Given the description of an element on the screen output the (x, y) to click on. 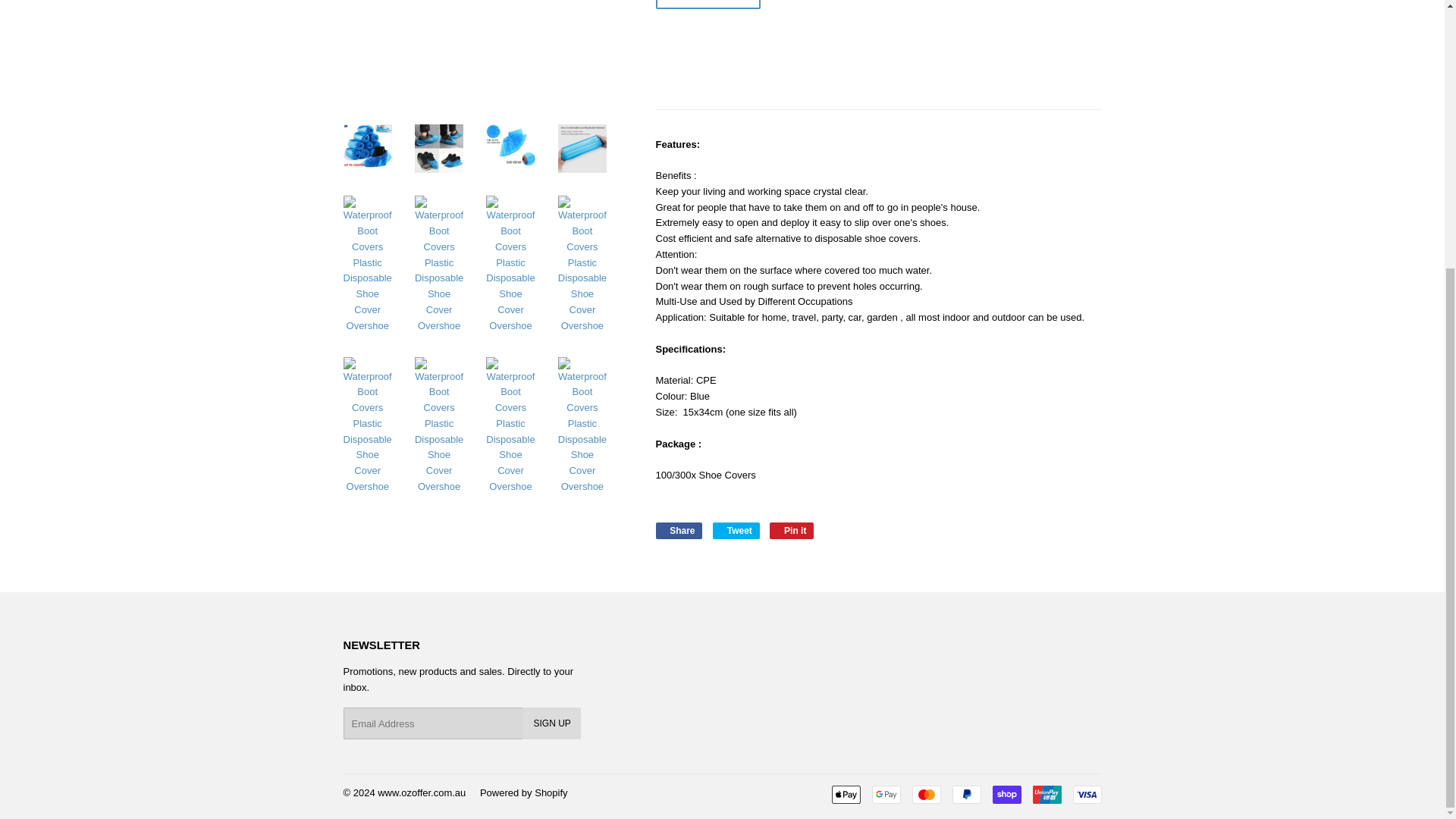
Powered by Shopify (523, 792)
Union Pay (1046, 794)
Shop Pay (1005, 794)
Share on Facebook (678, 530)
Mastercard (925, 794)
Tweet on Twitter (736, 530)
Visa (678, 530)
ADD TO CART (1085, 794)
Apple Pay (707, 4)
